Given the description of an element on the screen output the (x, y) to click on. 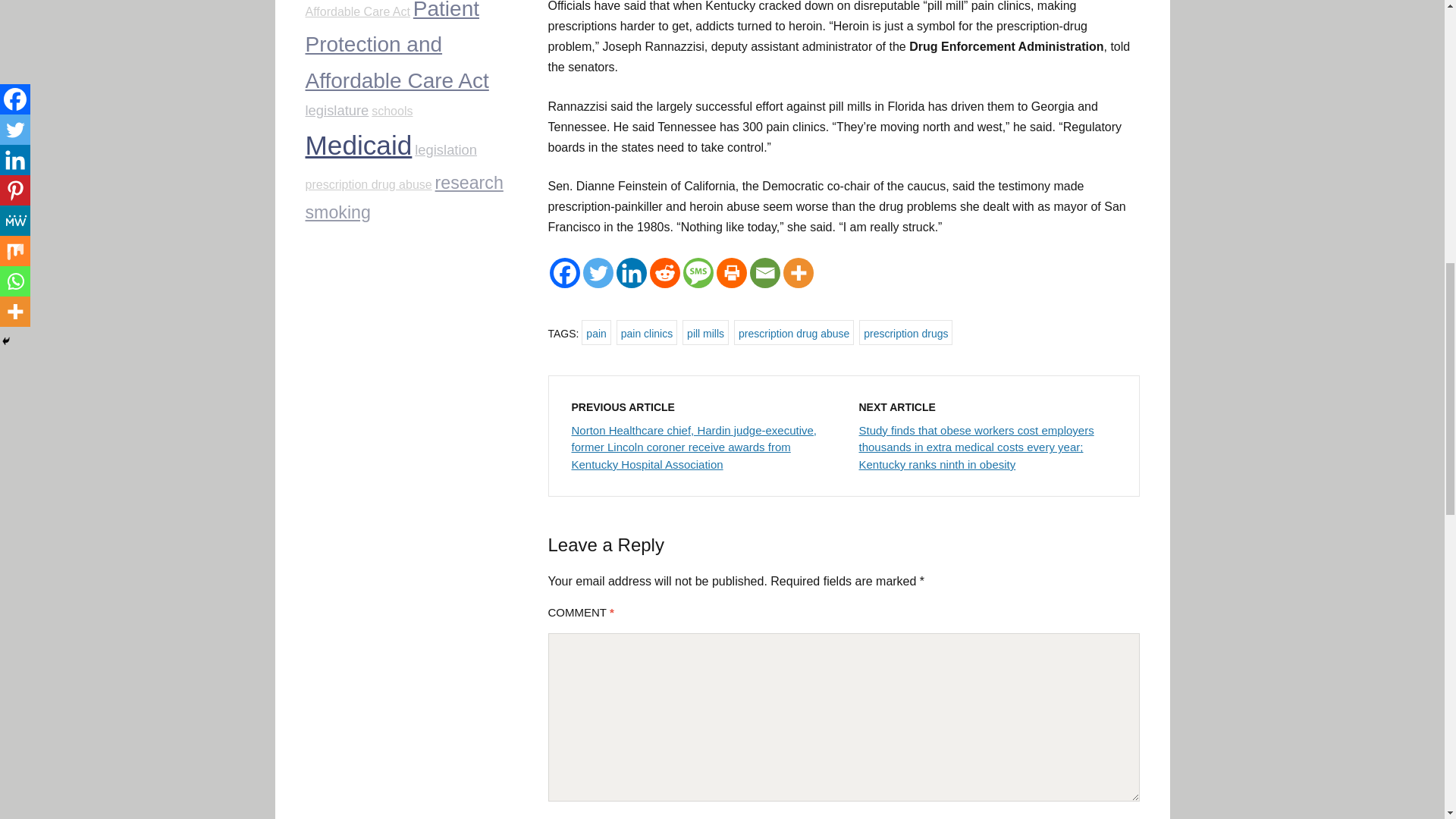
Linkedin (630, 272)
Twitter (597, 272)
Reddit (664, 272)
SMS (697, 272)
More (797, 272)
Facebook (563, 272)
Print (730, 272)
Email (763, 272)
